Given the description of an element on the screen output the (x, y) to click on. 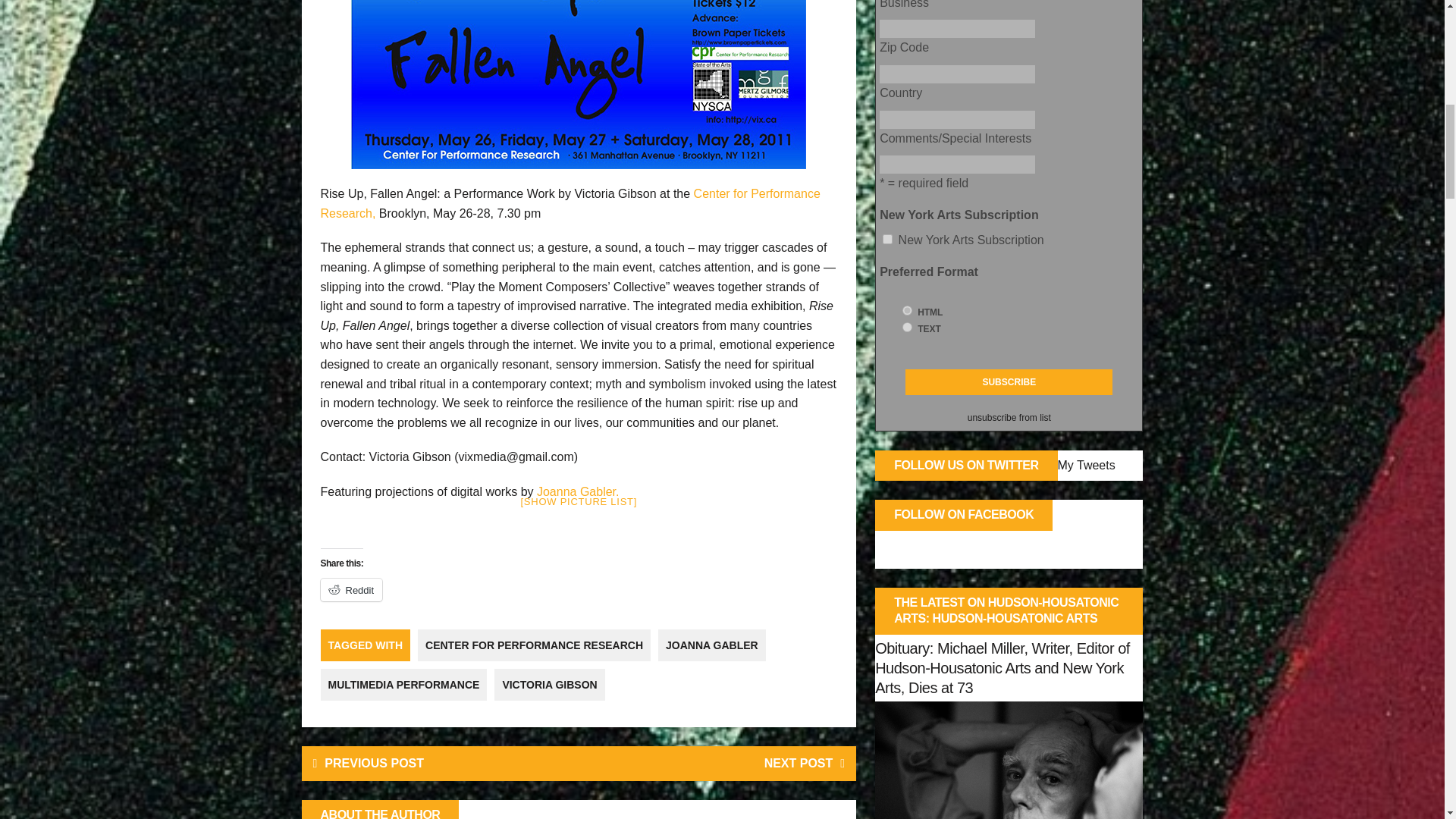
Rise Up, Fallen Angel (578, 84)
Subscribe (1008, 381)
New York Arts Subscription (887, 239)
text (907, 327)
html (907, 310)
